Given the description of an element on the screen output the (x, y) to click on. 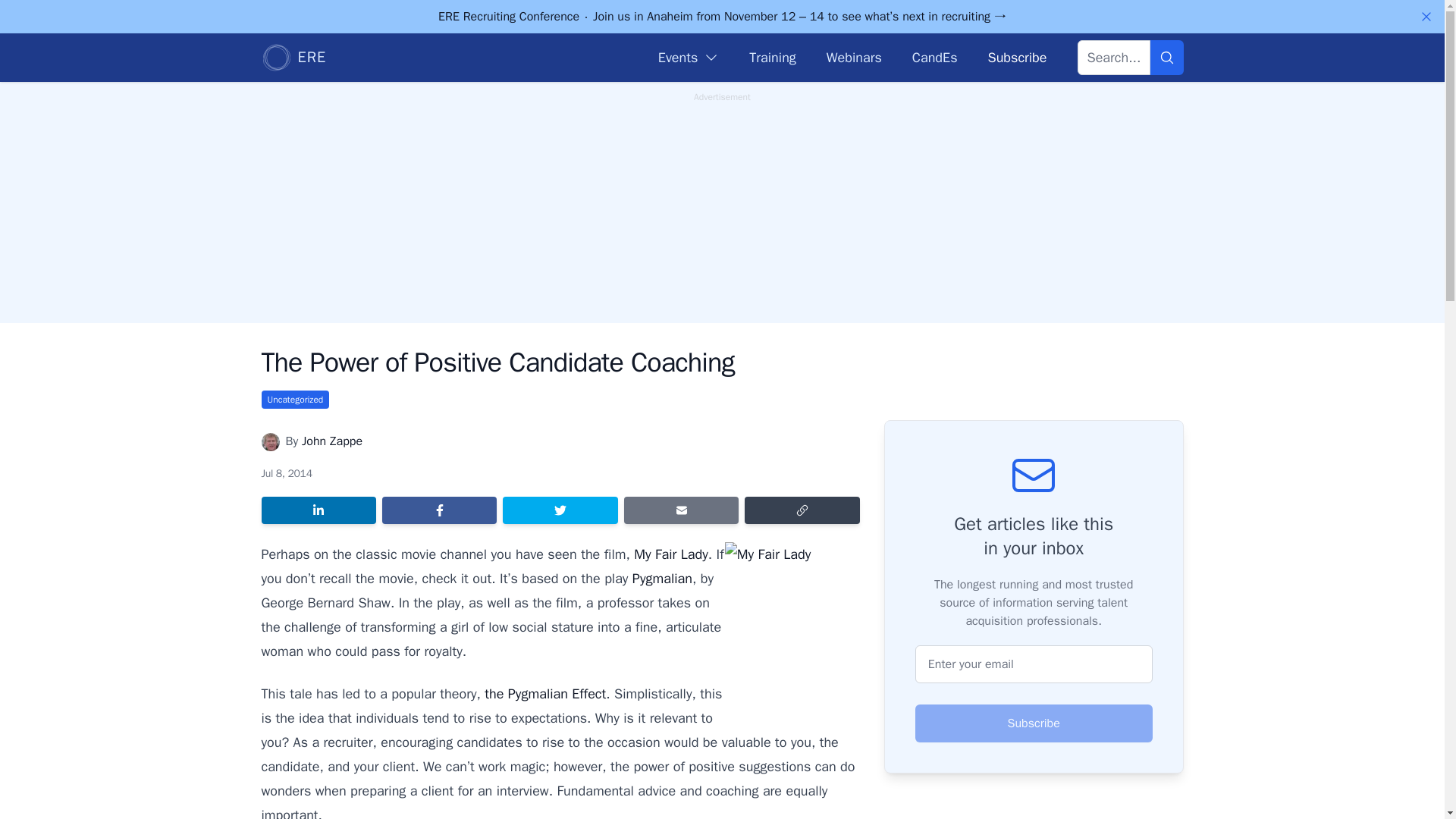
Uncategorized (294, 399)
Pygmalian (662, 578)
John Zappe (331, 441)
Training (771, 56)
Events (688, 56)
CandEs (935, 56)
ERE (293, 57)
Subscribe (1016, 56)
the Pygmalian Effect (544, 693)
Webinars (854, 56)
